Given the description of an element on the screen output the (x, y) to click on. 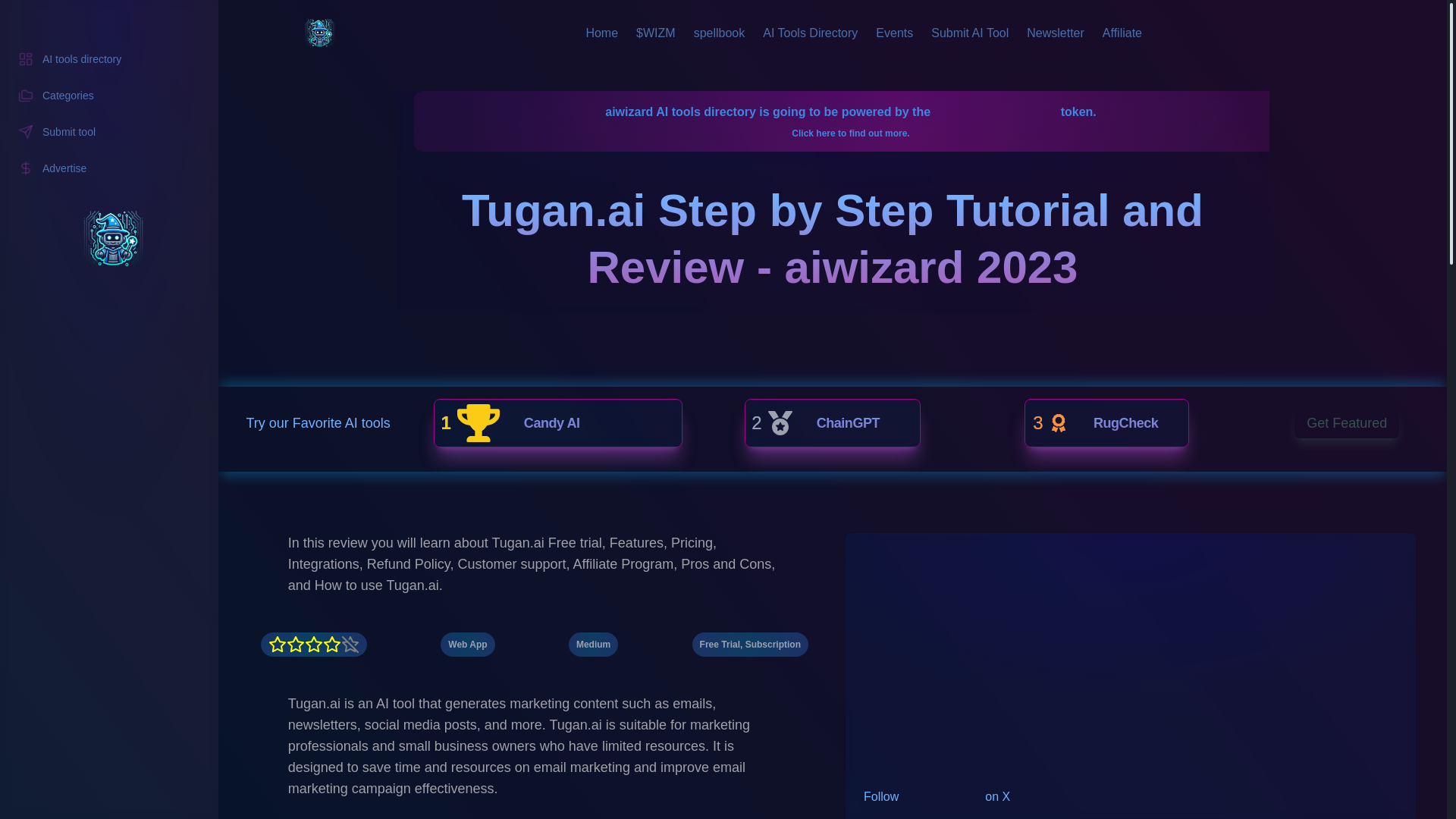
AI tools directory (832, 422)
Tugan.ai Features (108, 59)
Home (557, 422)
spellbook (911, 632)
Tugan.ai Free trial (601, 32)
Categories (719, 32)
Get Featured (911, 614)
Get Featured (108, 95)
